Given the description of an element on the screen output the (x, y) to click on. 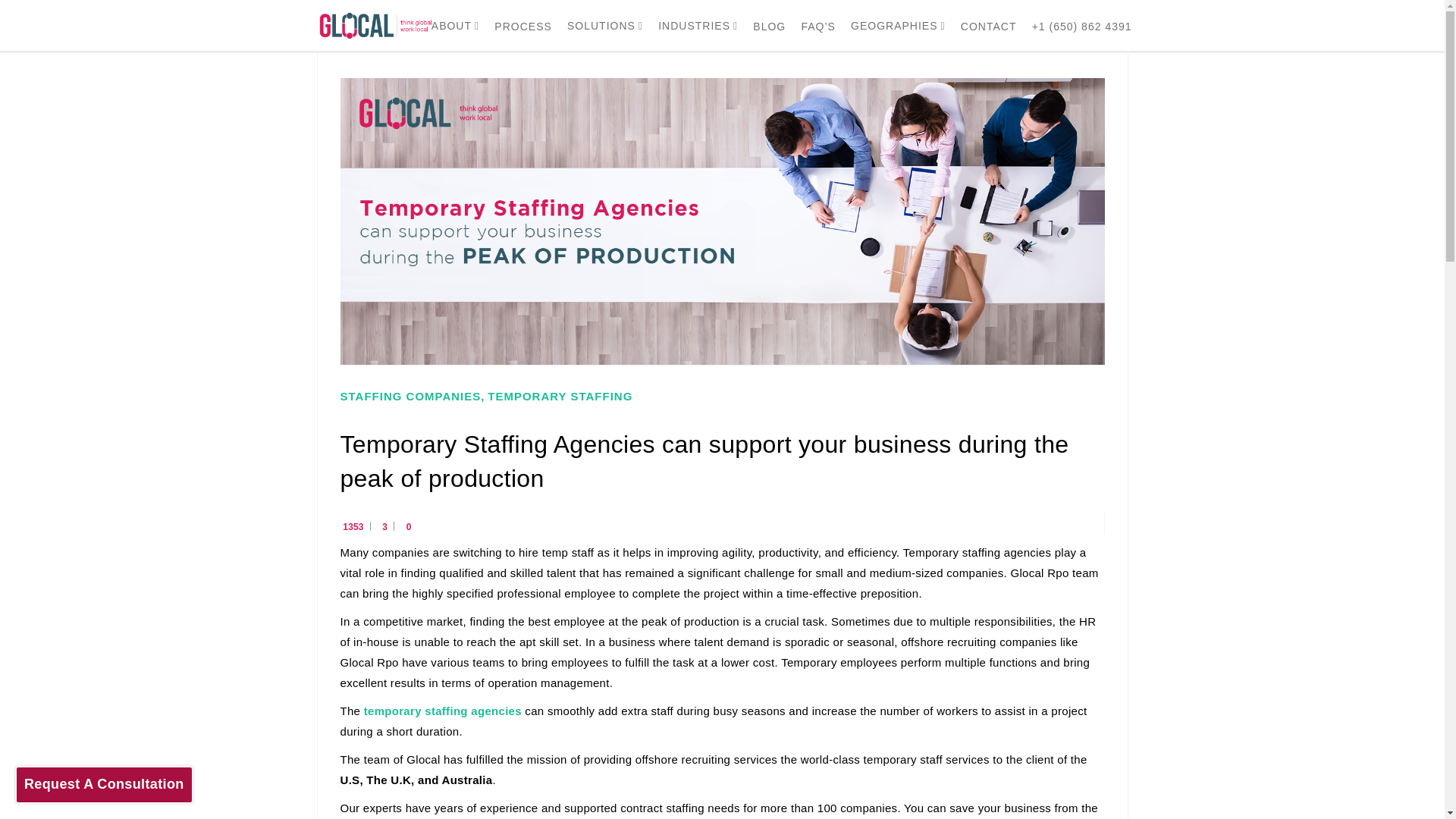
INDUSTRIES (698, 25)
GEOGRAPHIES (897, 25)
ABOUT (454, 25)
PROCESS (523, 25)
SOLUTIONS (605, 25)
